Given the description of an element on the screen output the (x, y) to click on. 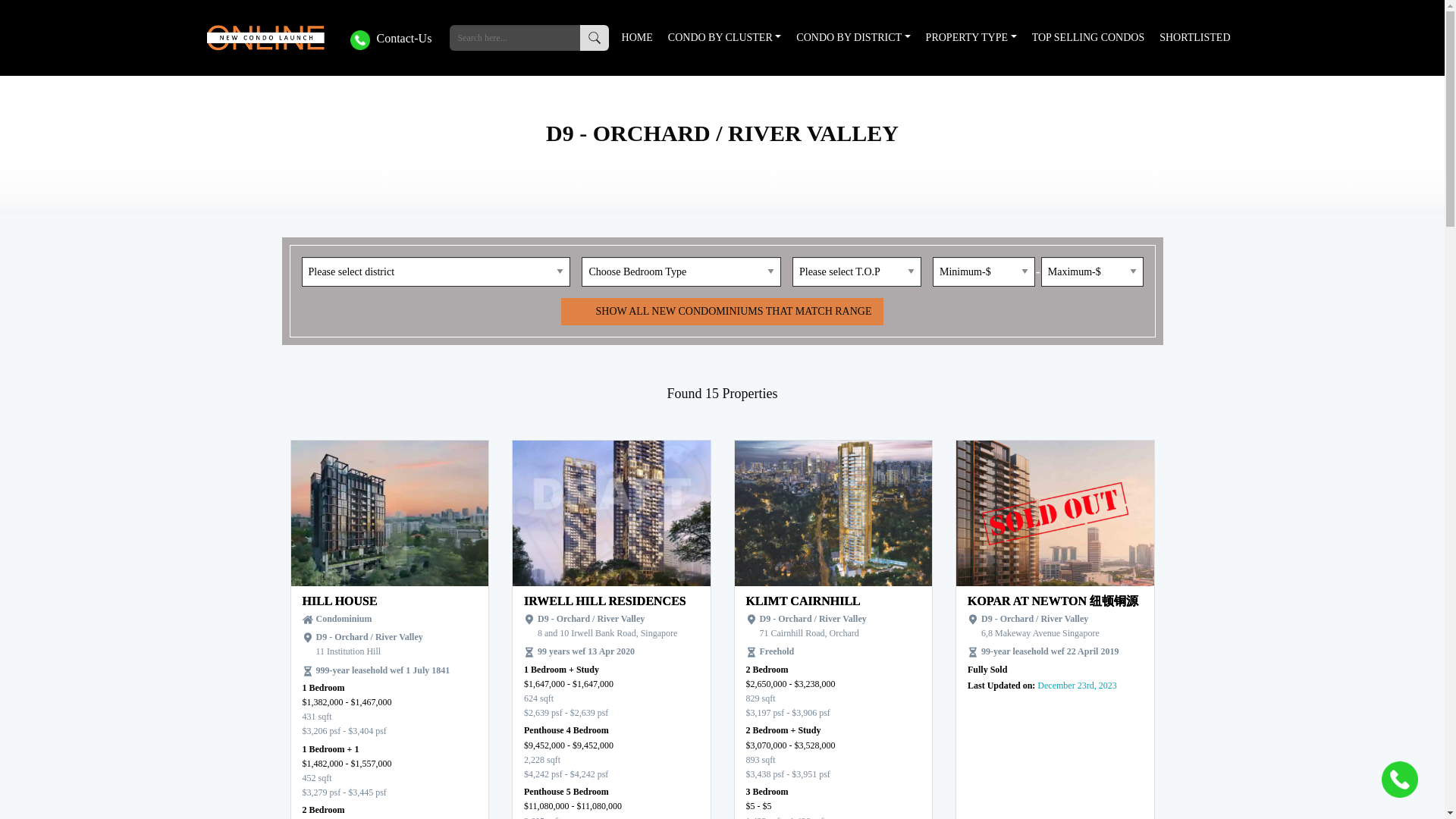
Condo By Cluster (724, 37)
Show All New Condominiums that match Range (721, 311)
CONDO BY CLUSTER (724, 37)
Contact-Us (391, 36)
 HOME (635, 37)
Condo by District (852, 37)
CONDO BY DISTRICT (852, 37)
Home (635, 37)
New Condo Launch - Condo Singapore (270, 37)
